Given the description of an element on the screen output the (x, y) to click on. 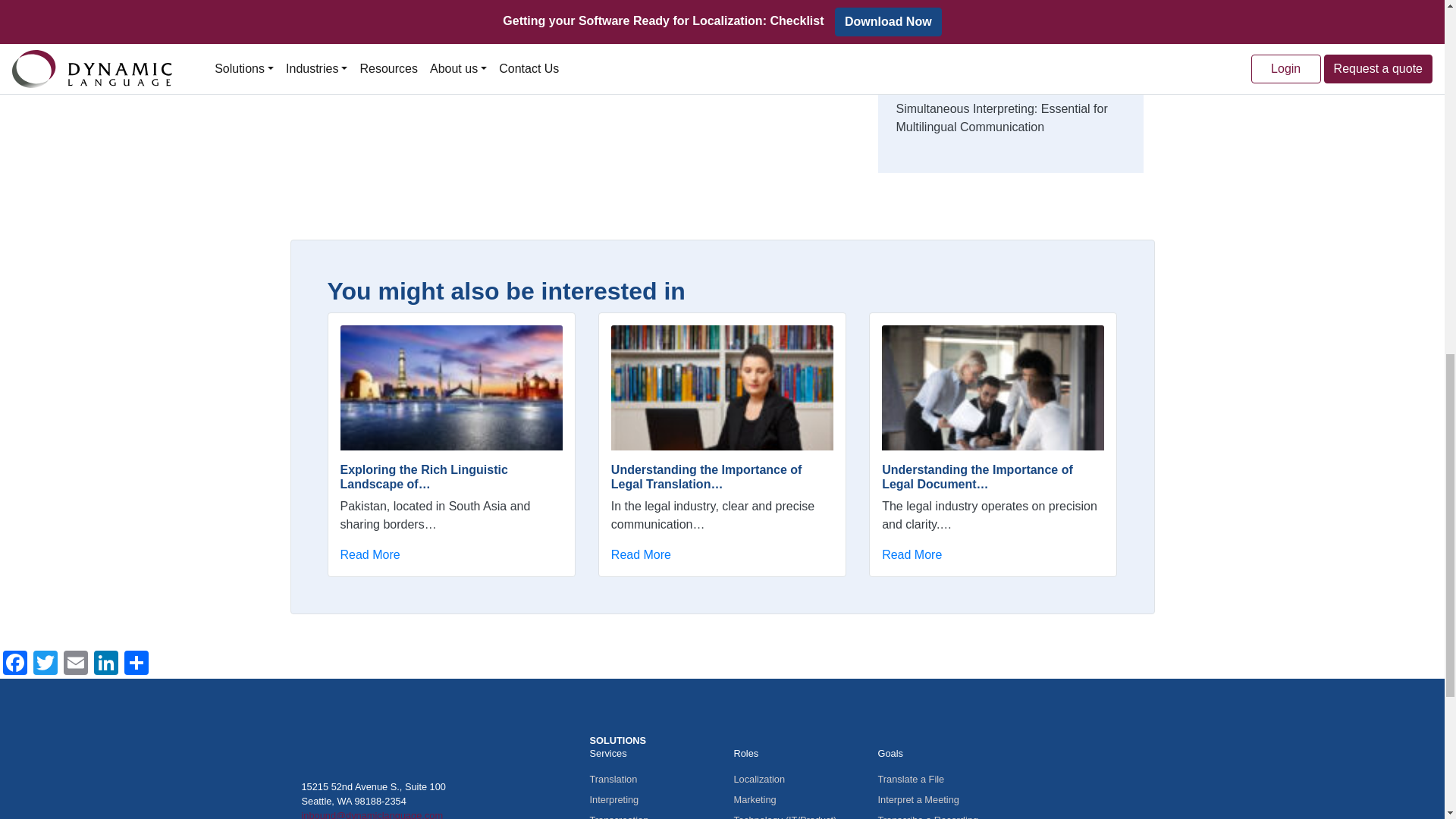
LinkedIn (105, 664)
Facebook (15, 664)
Twitter (45, 664)
Email (75, 664)
